Given the description of an element on the screen output the (x, y) to click on. 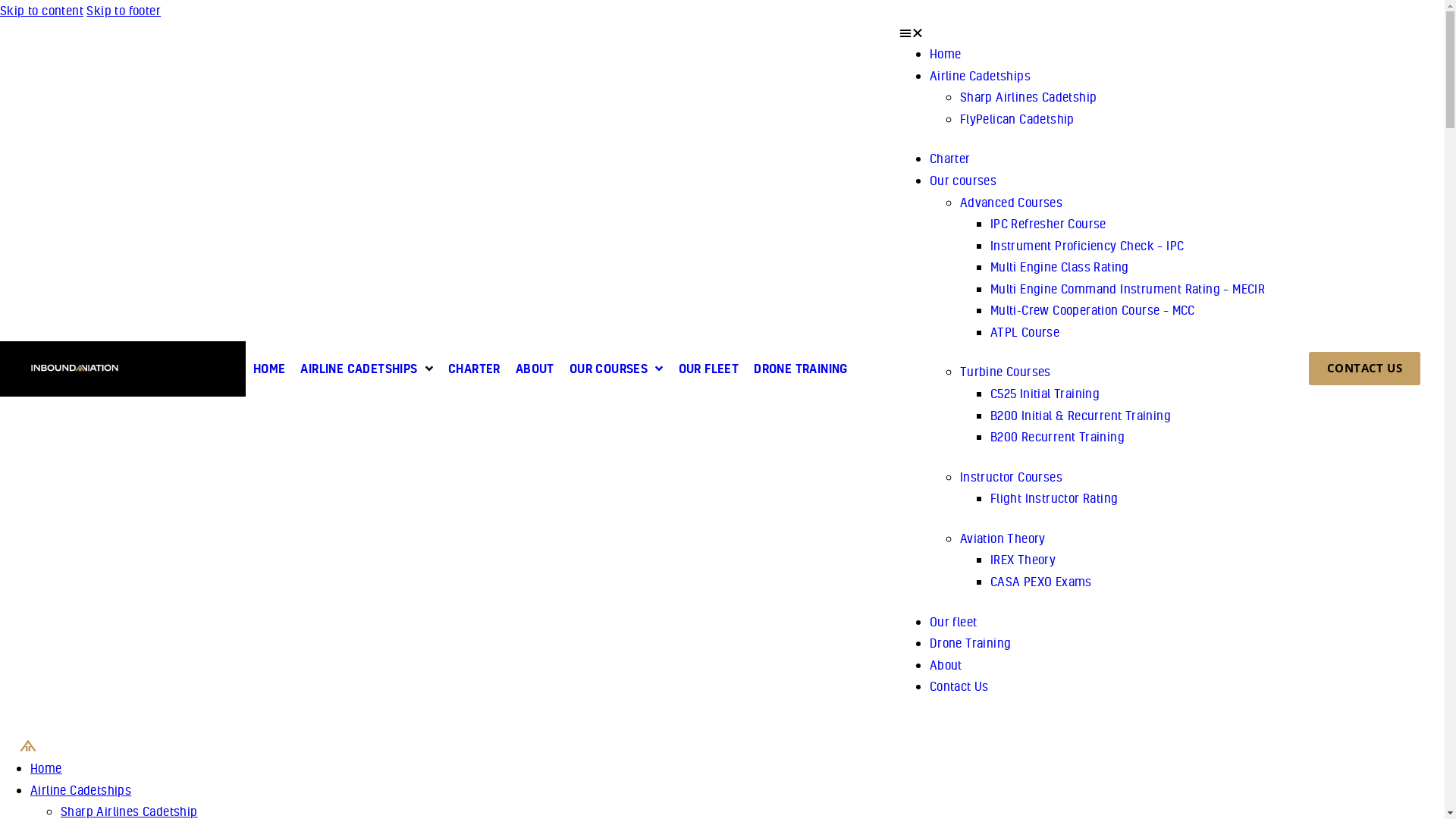
Aviation Theory Element type: text (1002, 538)
Home Element type: text (945, 53)
B200 Recurrent Training Element type: text (1057, 436)
OUR FLEET Element type: text (708, 368)
HOME Element type: text (269, 368)
Instructor Courses Element type: text (1011, 476)
IPC Refresher Course Element type: text (1048, 223)
Skip to footer Element type: text (123, 10)
B200 Initial & Recurrent Training Element type: text (1080, 415)
IREX Theory Element type: text (1022, 559)
Sharp Airlines Cadetship Element type: text (1028, 96)
Drone Training Element type: text (970, 642)
Our courses Element type: text (962, 180)
Advanced Courses Element type: text (1011, 202)
FlyPelican Cadetship Element type: text (1017, 118)
About Element type: text (945, 664)
Our fleet Element type: text (953, 620)
Multi Engine Class Rating Element type: text (1059, 266)
Charter Element type: text (949, 158)
CASA PEXO Exams Element type: text (1041, 581)
Contact Us Element type: text (958, 685)
Skip to content Element type: text (41, 10)
AIRLINE CADETSHIPS Element type: text (366, 368)
Turbine Courses Element type: text (1005, 371)
DRONE TRAINING Element type: text (800, 368)
C525 Initial Training Element type: text (1044, 393)
Airline Cadetships Element type: text (979, 75)
Airline Cadetships Element type: text (80, 789)
Flight Instructor Rating Element type: text (1054, 497)
CHARTER Element type: text (474, 368)
OUR COURSES Element type: text (616, 368)
ABOUT Element type: text (534, 368)
CONTACT US Element type: text (1364, 368)
ATPL Course Element type: text (1024, 331)
Home Element type: text (46, 767)
